Given the description of an element on the screen output the (x, y) to click on. 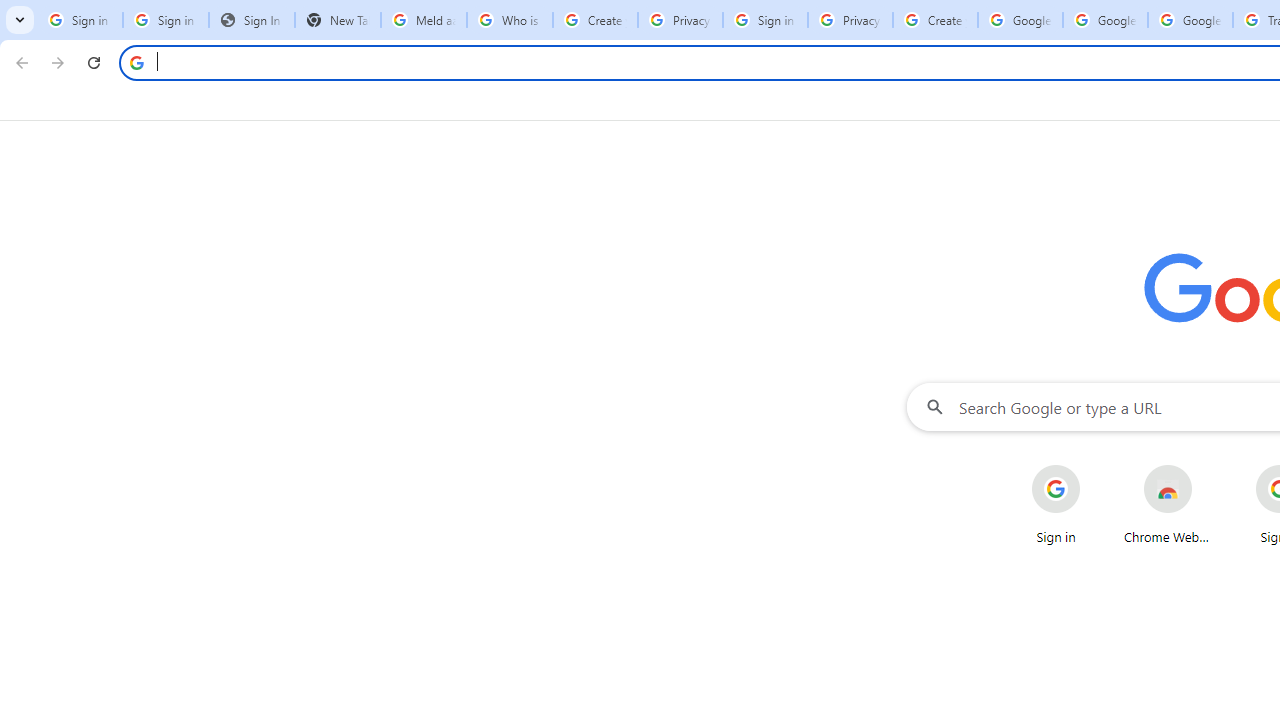
Search tabs (20, 20)
Reload (93, 62)
More actions for Sign in shortcut (1095, 466)
Chrome Web Store (1167, 504)
Sign in - Google Accounts (165, 20)
Back (19, 62)
Who is my administrator? - Google Account Help (509, 20)
